Given the description of an element on the screen output the (x, y) to click on. 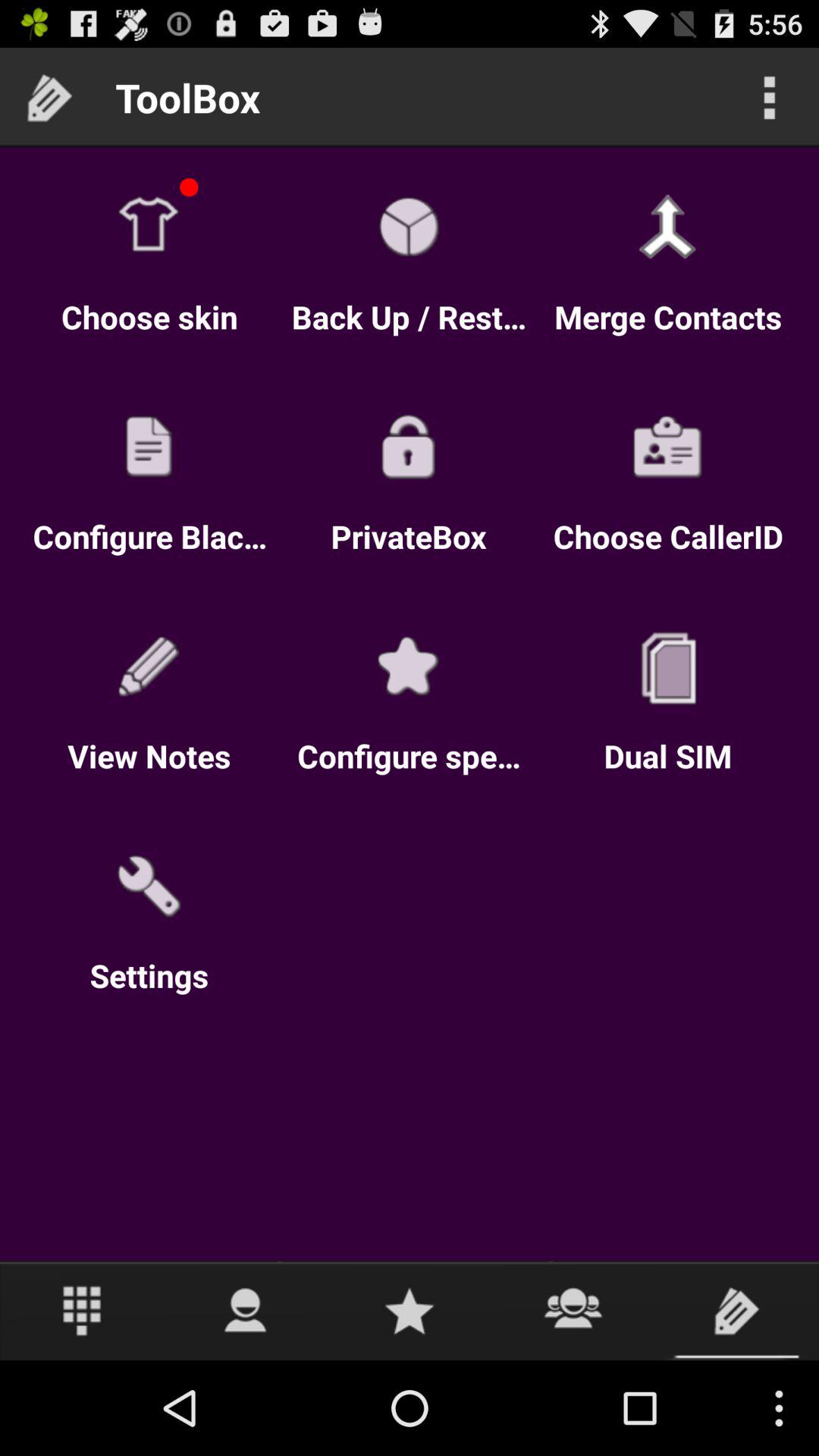
open toolbox (737, 1310)
